Given the description of an element on the screen output the (x, y) to click on. 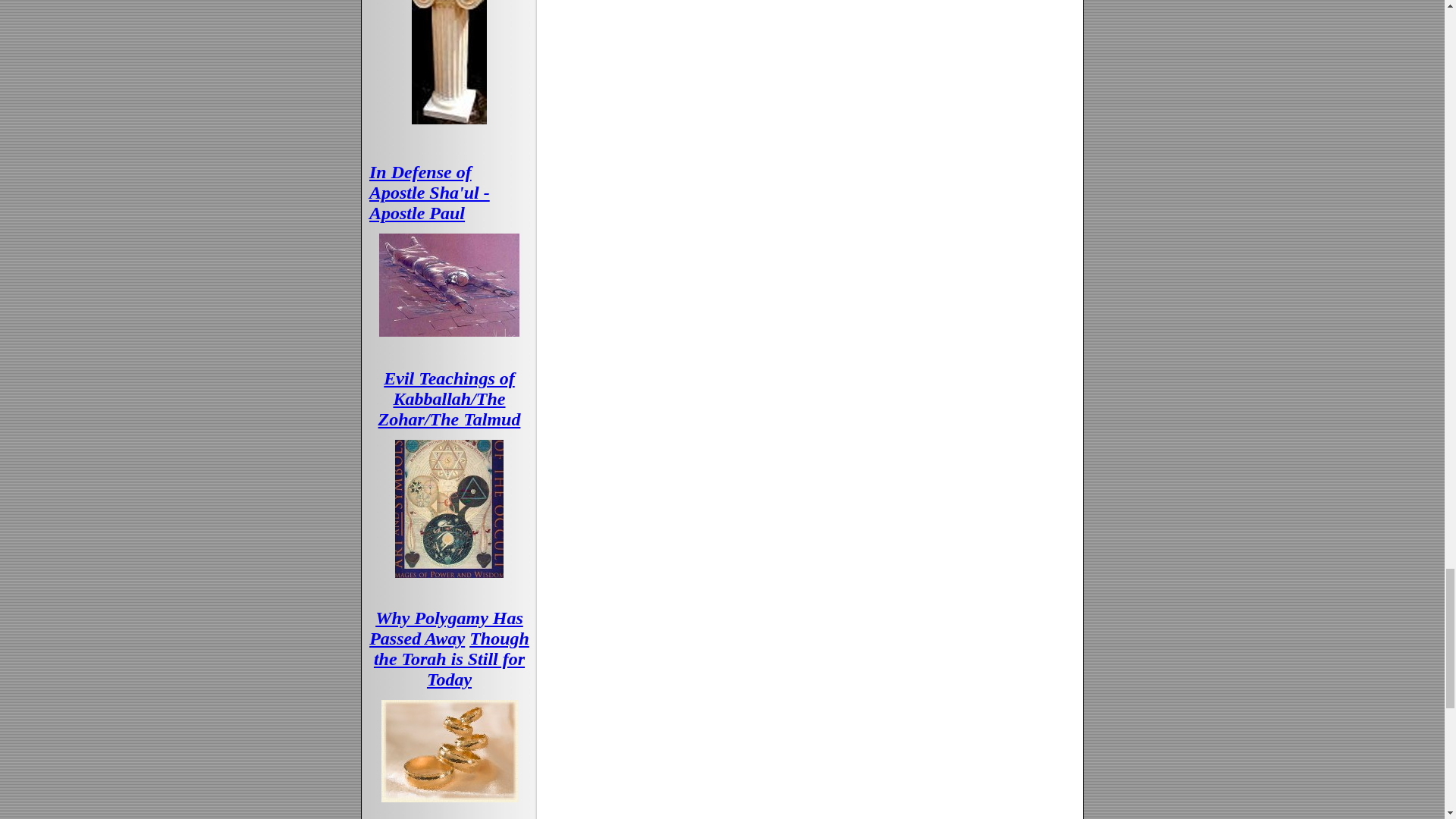
Why Polygamy Has Passed Away (445, 628)
In Defense of Apostle Sha'ul - Apostle Paul (429, 192)
Though the Torah is Still for Today (451, 658)
